Given the description of an element on the screen output the (x, y) to click on. 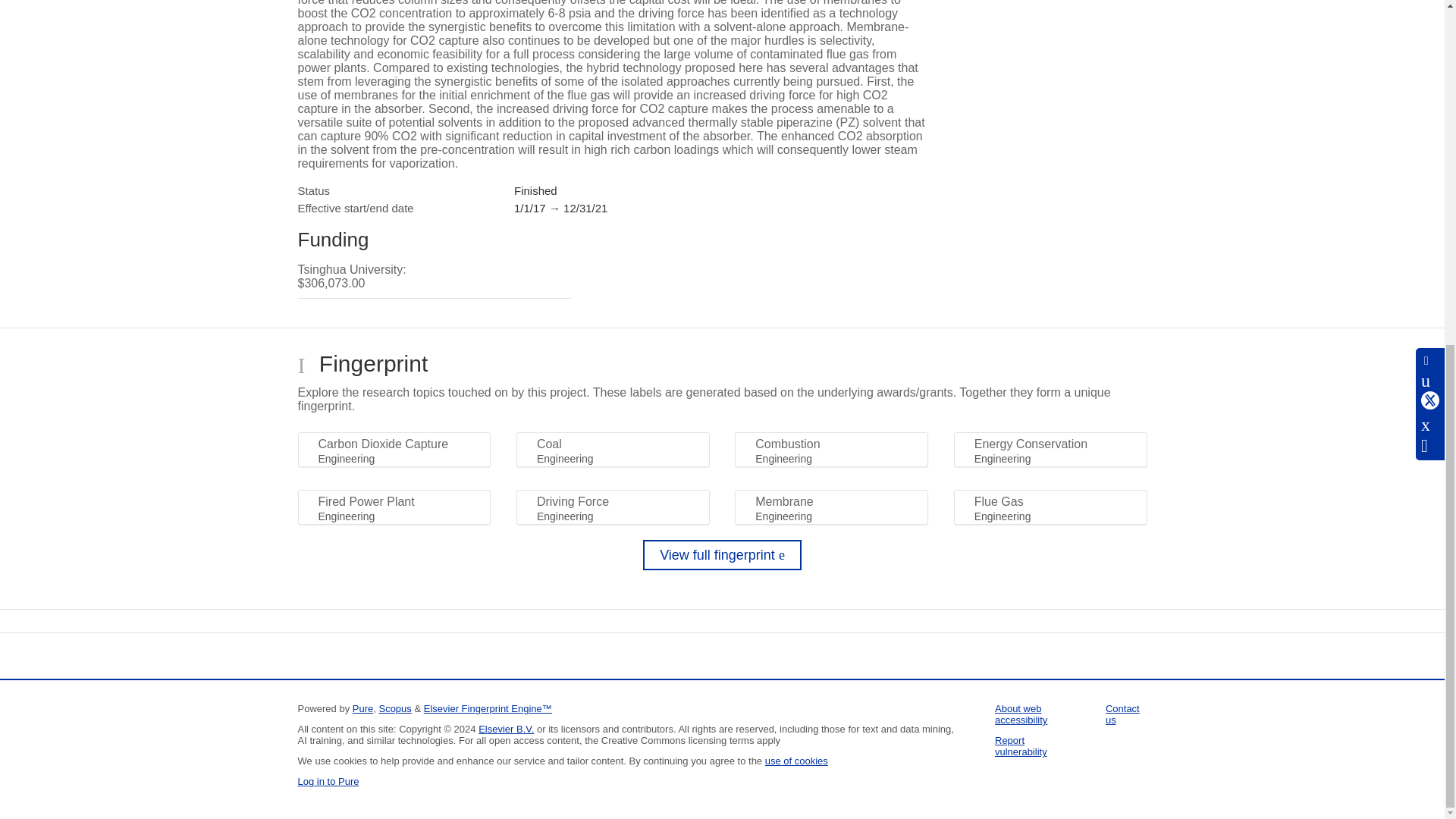
Pure (362, 708)
Scopus (394, 708)
Elsevier B.V. (506, 728)
View full fingerprint (722, 554)
use of cookies (796, 760)
